Given the description of an element on the screen output the (x, y) to click on. 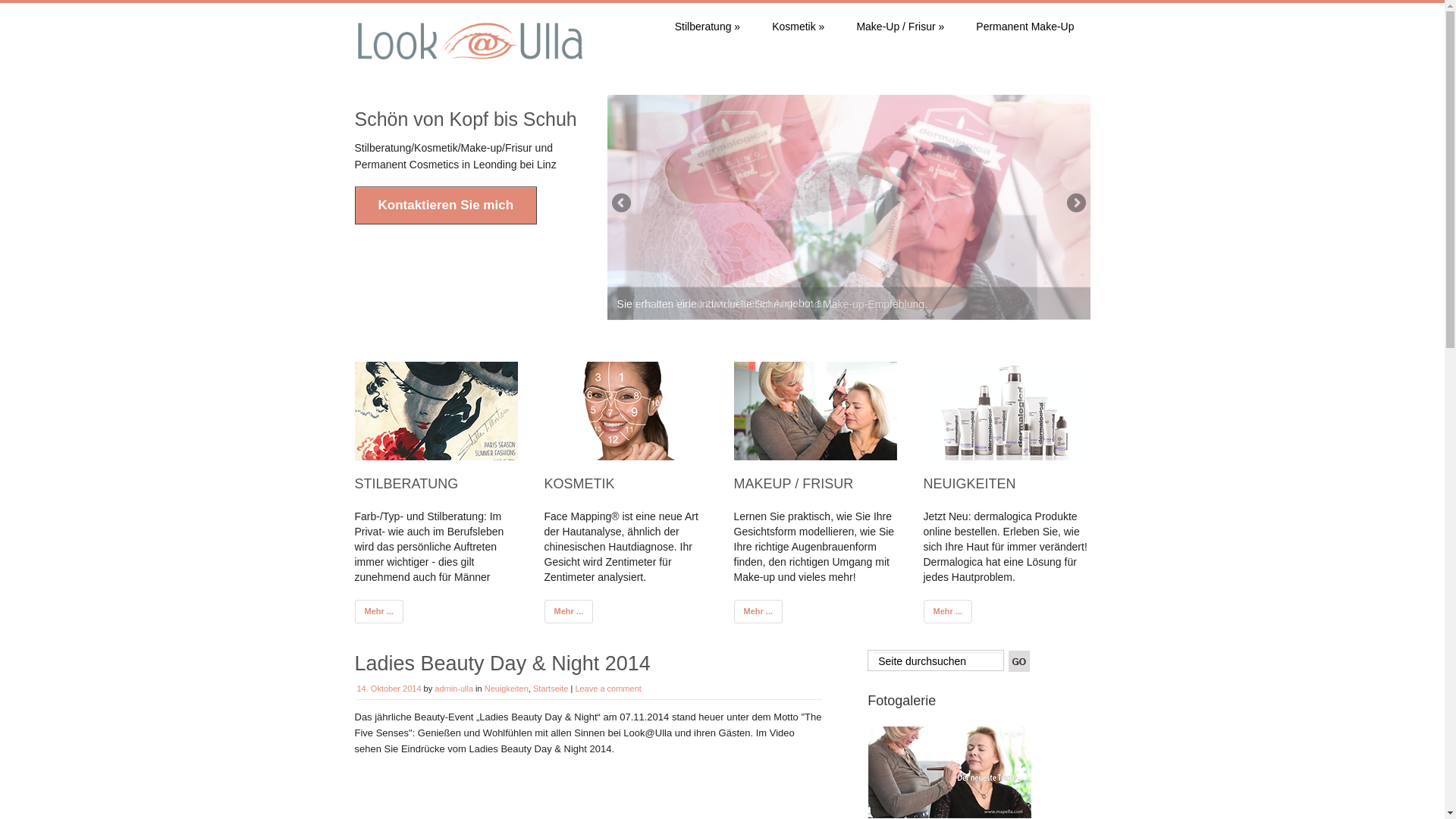
Mehr ... Element type: text (947, 610)
Startseite Element type: text (550, 687)
Next Element type: text (1074, 202)
Fotogalerie Element type: hover (949, 771)
admin-ulla Element type: text (453, 687)
Mehr ... Element type: text (378, 610)
Ladies Beauty Day & Night 2014 Element type: text (502, 662)
Farb-/Typ- und Stilberatung // Kosmetik // Makeup & Frisur Element type: hover (469, 59)
Kontaktieren Sie mich Element type: text (445, 205)
Mehr ... Element type: text (757, 610)
Neuigkeiten Element type: text (506, 687)
Permanent Make-Up Element type: text (1024, 26)
Previous Element type: text (622, 202)
14. Oktober 2014 Element type: text (388, 687)
Mehr ... Element type: text (568, 610)
Leave a comment Element type: text (607, 687)
